Given the description of an element on the screen output the (x, y) to click on. 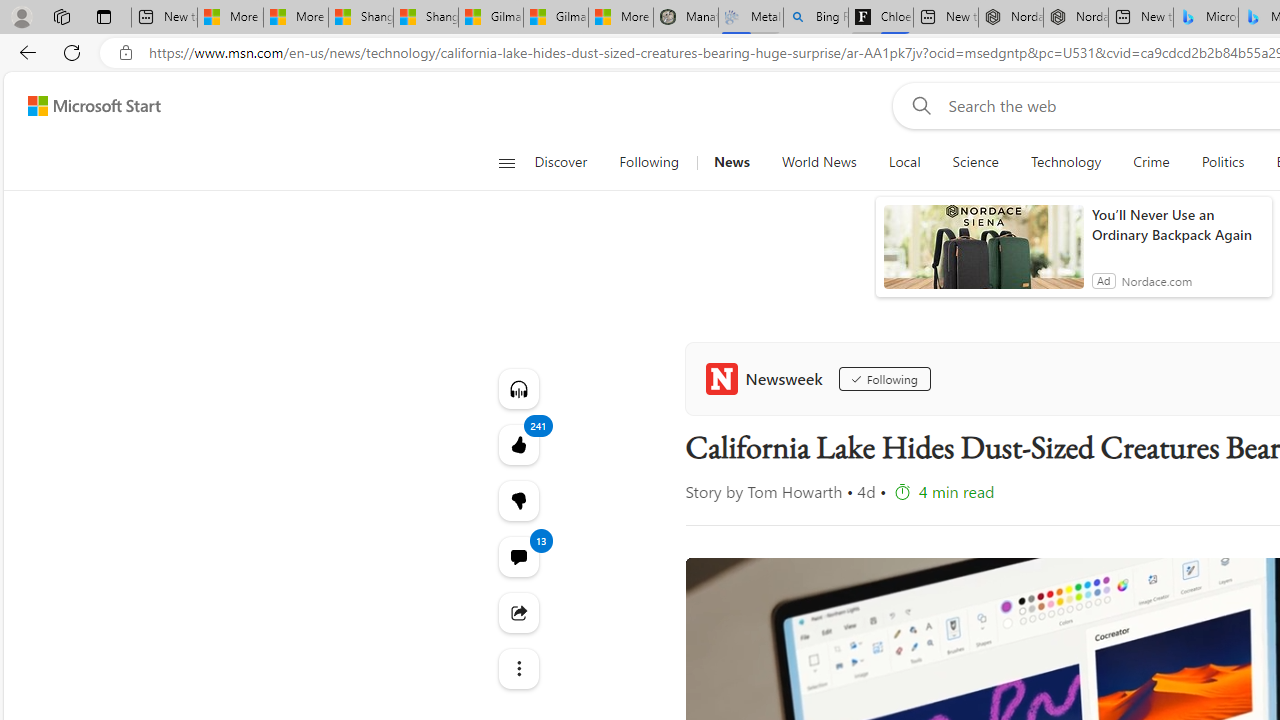
Politics (1222, 162)
241 Like (517, 444)
Class: button-glyph (505, 162)
World News (818, 162)
Chloe Sorvino (880, 17)
World News (818, 162)
Newsweek (767, 378)
Share this story (517, 612)
